Given the description of an element on the screen output the (x, y) to click on. 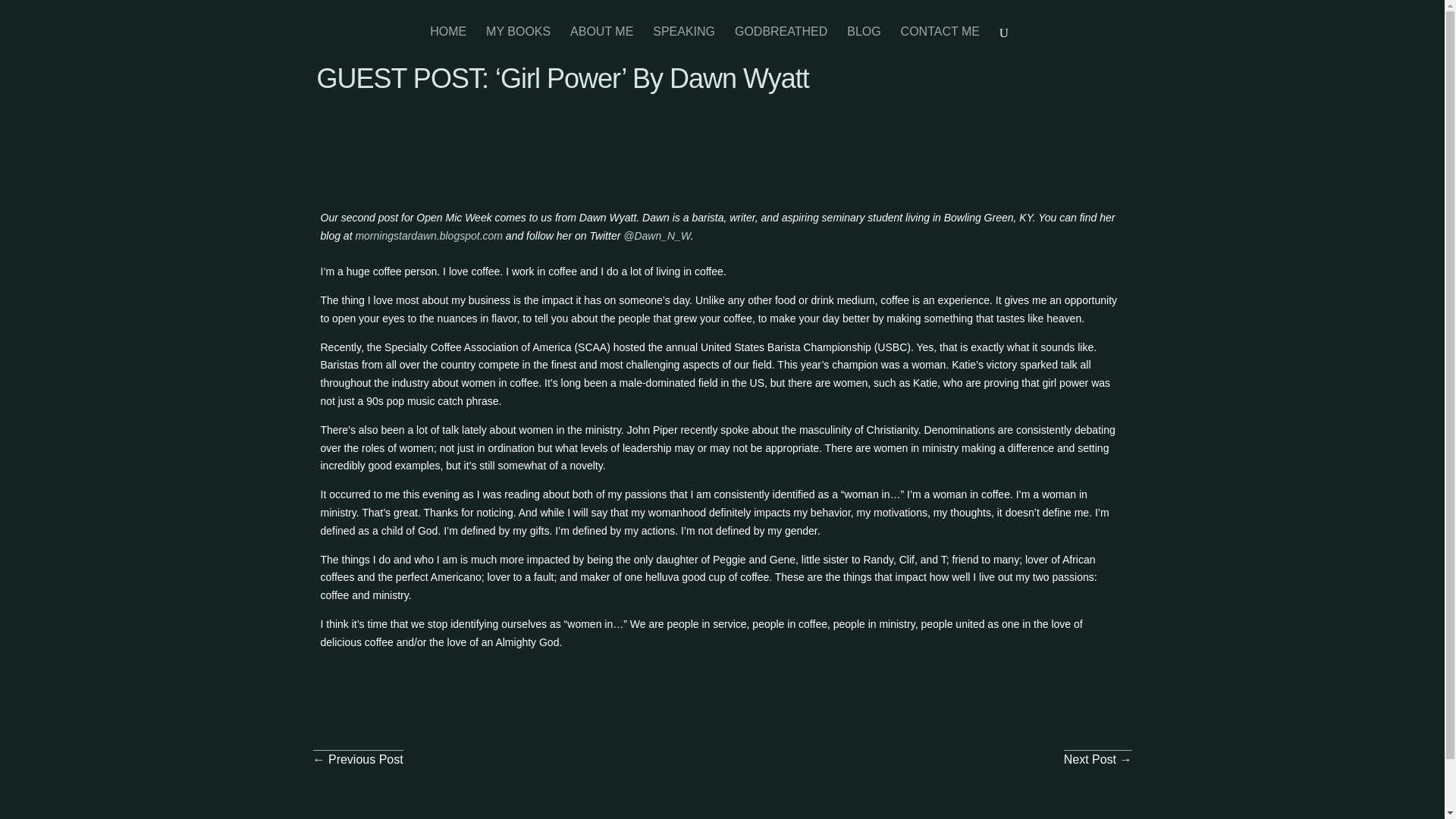
HOME (447, 44)
SPEAKING (683, 44)
ABOUT ME (601, 44)
CONTACT ME (940, 44)
GODBREATHED (781, 44)
BLOG (863, 44)
MY BOOKS (518, 44)
morningstardawn.blogspot.com (428, 235)
